Given the description of an element on the screen output the (x, y) to click on. 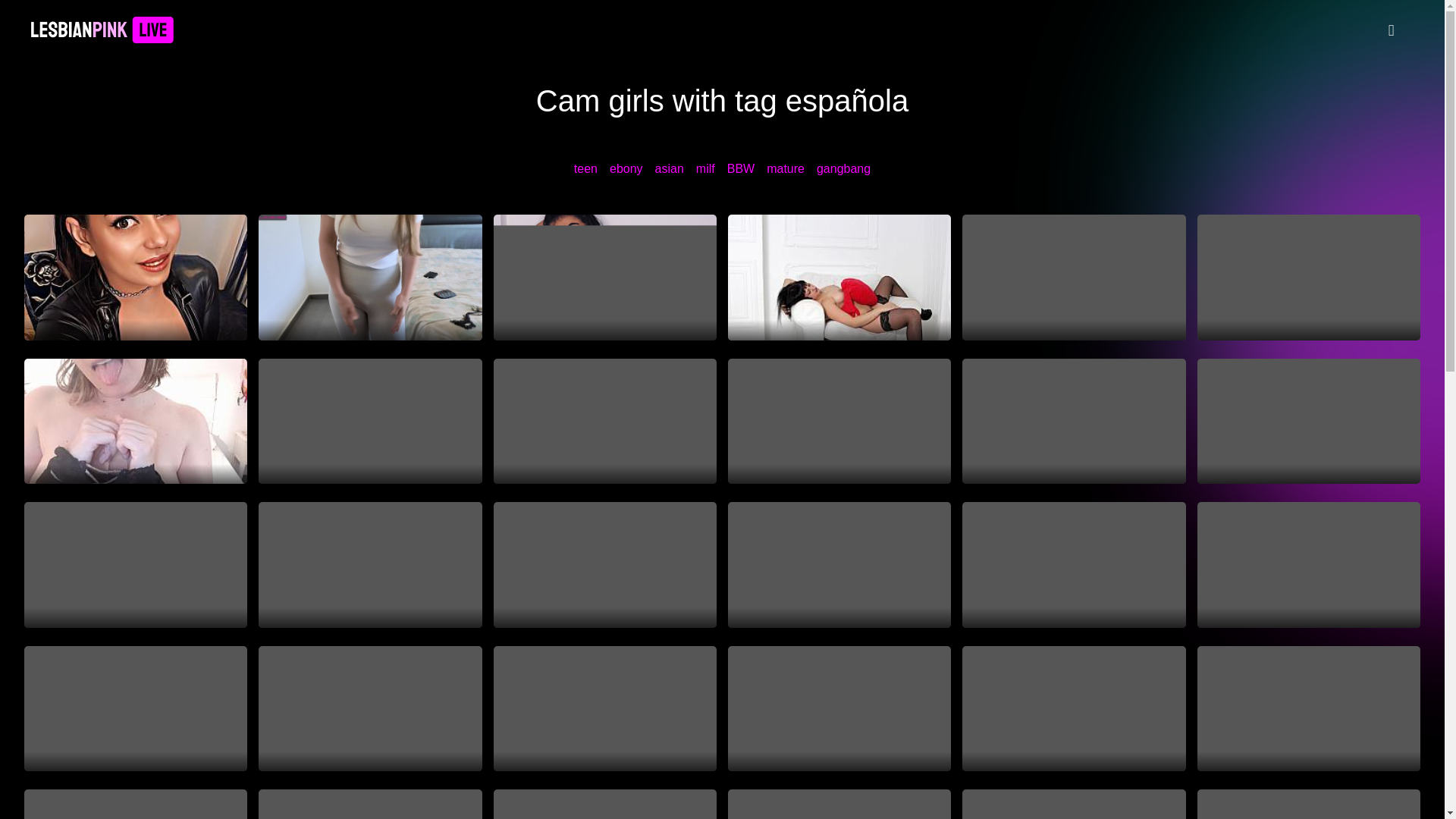
ebony (626, 168)
BBW (740, 168)
matureSquirtxxx (604, 421)
gangbang (843, 168)
titiini850 (1308, 421)
Estelasol55 (839, 421)
BBW (740, 168)
asian (669, 168)
Athanas (1073, 277)
mature (786, 168)
teen (584, 168)
milf (704, 168)
ebony (626, 168)
gangbang (843, 168)
asian (669, 168)
